Given the description of an element on the screen output the (x, y) to click on. 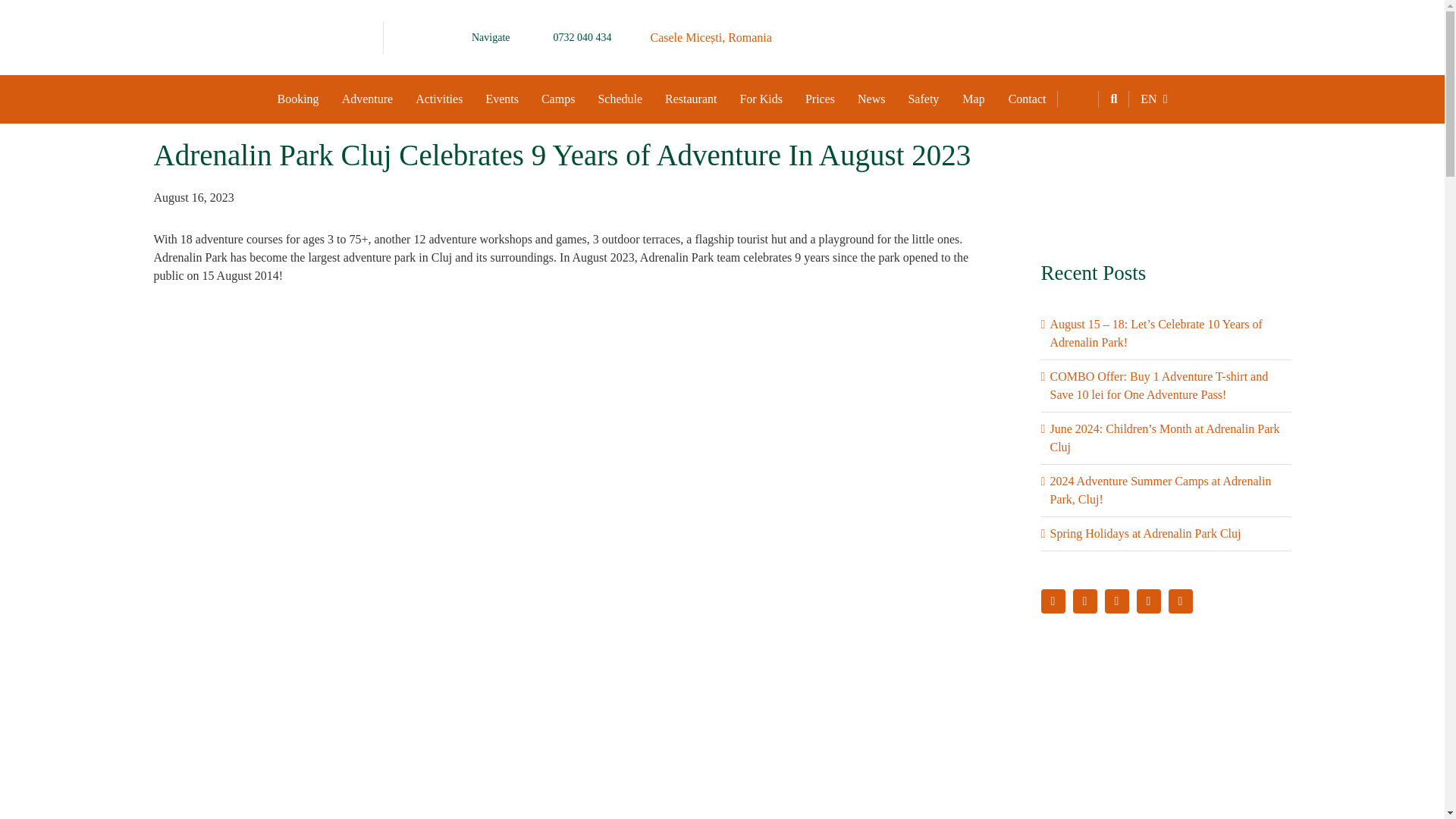
Camps (557, 99)
Facebook (1052, 600)
ap-logo-10-years (230, 42)
Activities (439, 99)
Contact (1027, 99)
Safety (923, 99)
For Kids (760, 99)
X (1083, 600)
Restaurant (690, 99)
Schedule (619, 99)
